Given the description of an element on the screen output the (x, y) to click on. 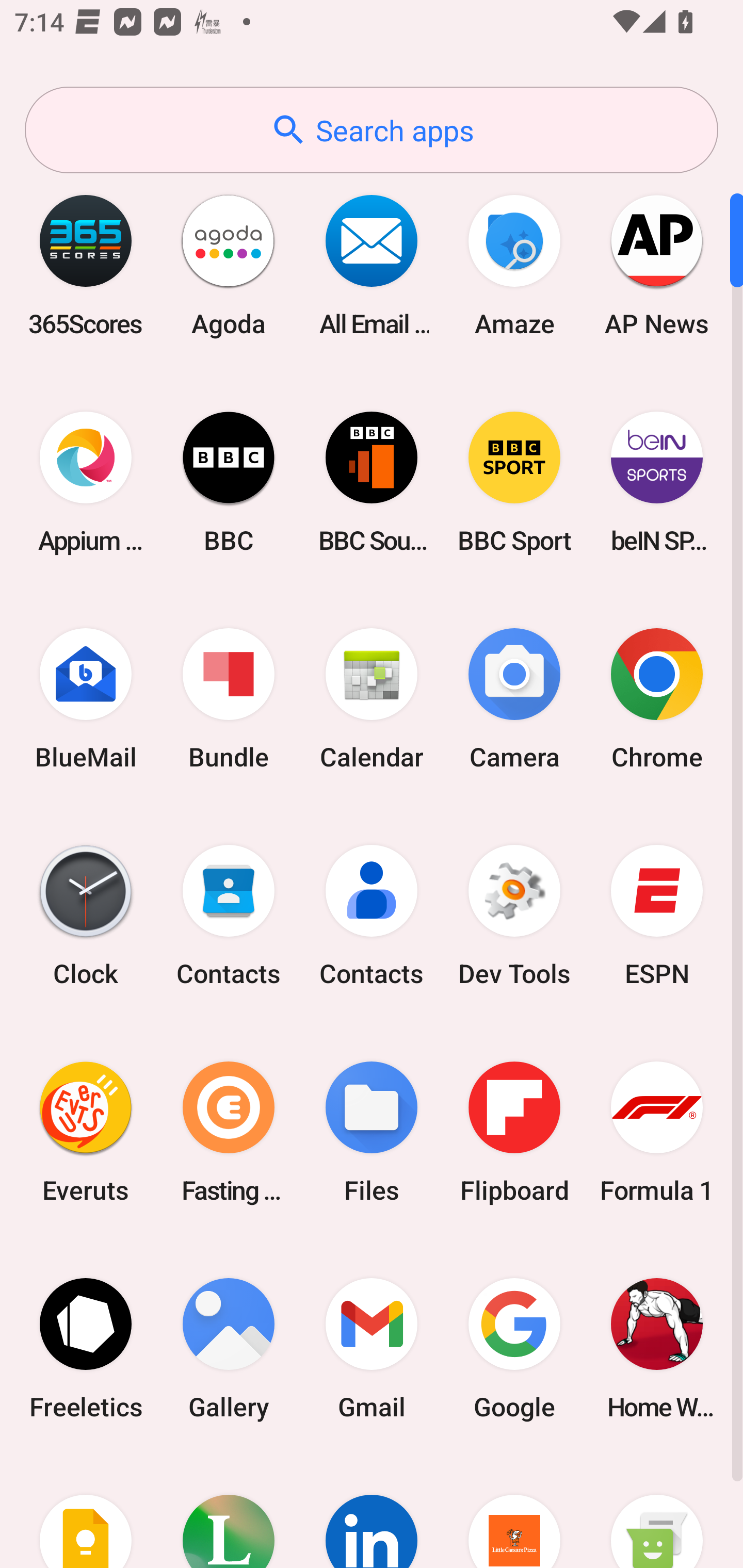
  Search apps (371, 130)
365Scores (85, 264)
Agoda (228, 264)
All Email Connect (371, 264)
Amaze (514, 264)
AP News (656, 264)
Appium Settings (85, 482)
BBC (228, 482)
BBC Sounds (371, 482)
BBC Sport (514, 482)
beIN SPORTS (656, 482)
BlueMail (85, 699)
Bundle (228, 699)
Calendar (371, 699)
Camera (514, 699)
Chrome (656, 699)
Clock (85, 915)
Contacts (228, 915)
Contacts (371, 915)
Dev Tools (514, 915)
ESPN (656, 915)
Everuts (85, 1131)
Fasting Coach (228, 1131)
Files (371, 1131)
Flipboard (514, 1131)
Formula 1 (656, 1131)
Freeletics (85, 1348)
Gallery (228, 1348)
Gmail (371, 1348)
Google (514, 1348)
Home Workout (656, 1348)
Keep Notes (85, 1512)
Lifesum (228, 1512)
LinkedIn (371, 1512)
Little Caesars Pizza (514, 1512)
Messaging (656, 1512)
